Given the description of an element on the screen output the (x, y) to click on. 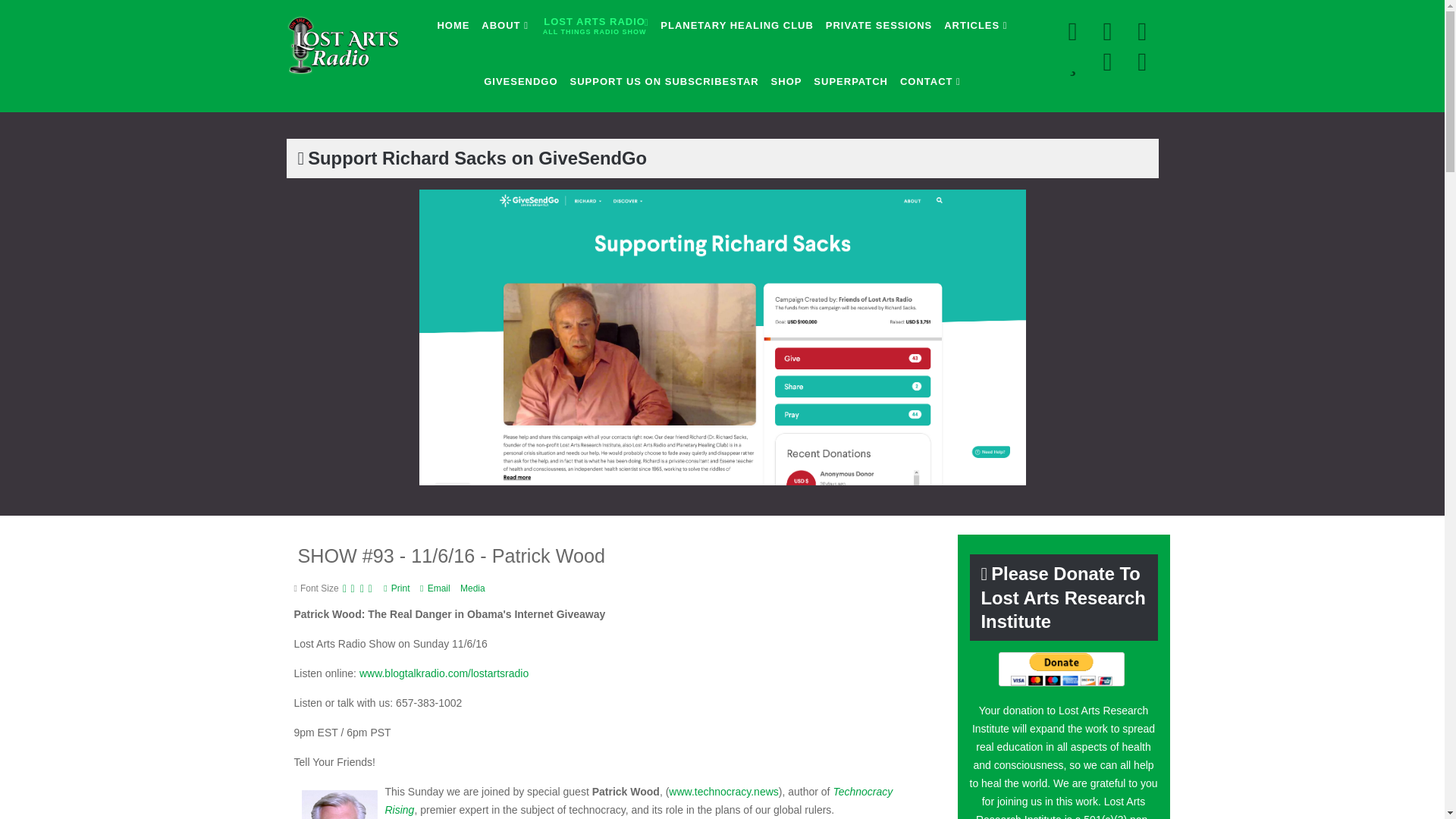
Patrick Wood (594, 24)
ABOUT (339, 804)
